Given the description of an element on the screen output the (x, y) to click on. 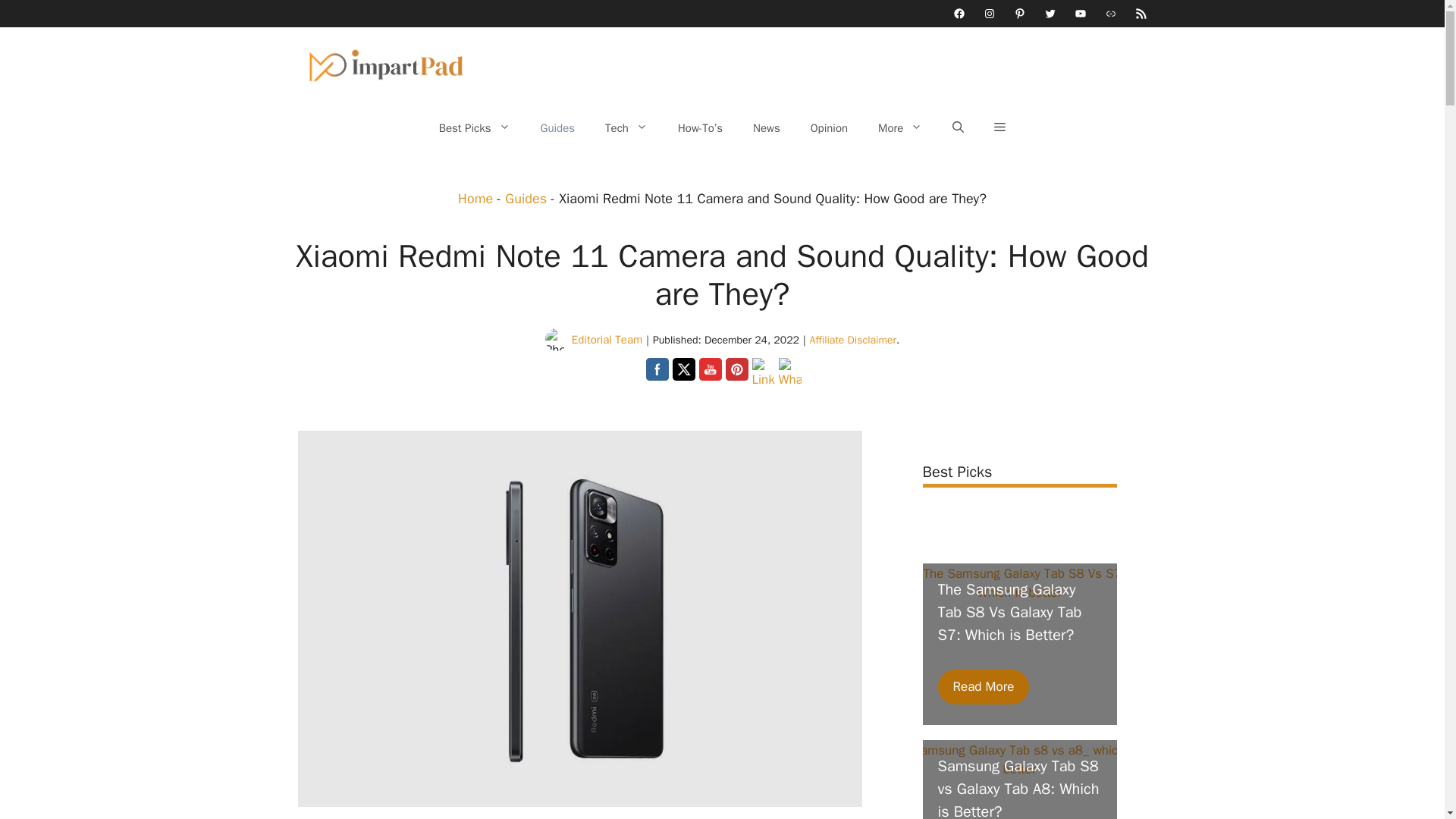
RSS Feed (1140, 13)
Facebook (957, 13)
Instagram (988, 13)
Link (1109, 13)
Twitter (682, 368)
Pinterest (1019, 13)
Twitter (1049, 13)
Guides (558, 127)
YouTube (1080, 13)
Facebook (657, 368)
